Given the description of an element on the screen output the (x, y) to click on. 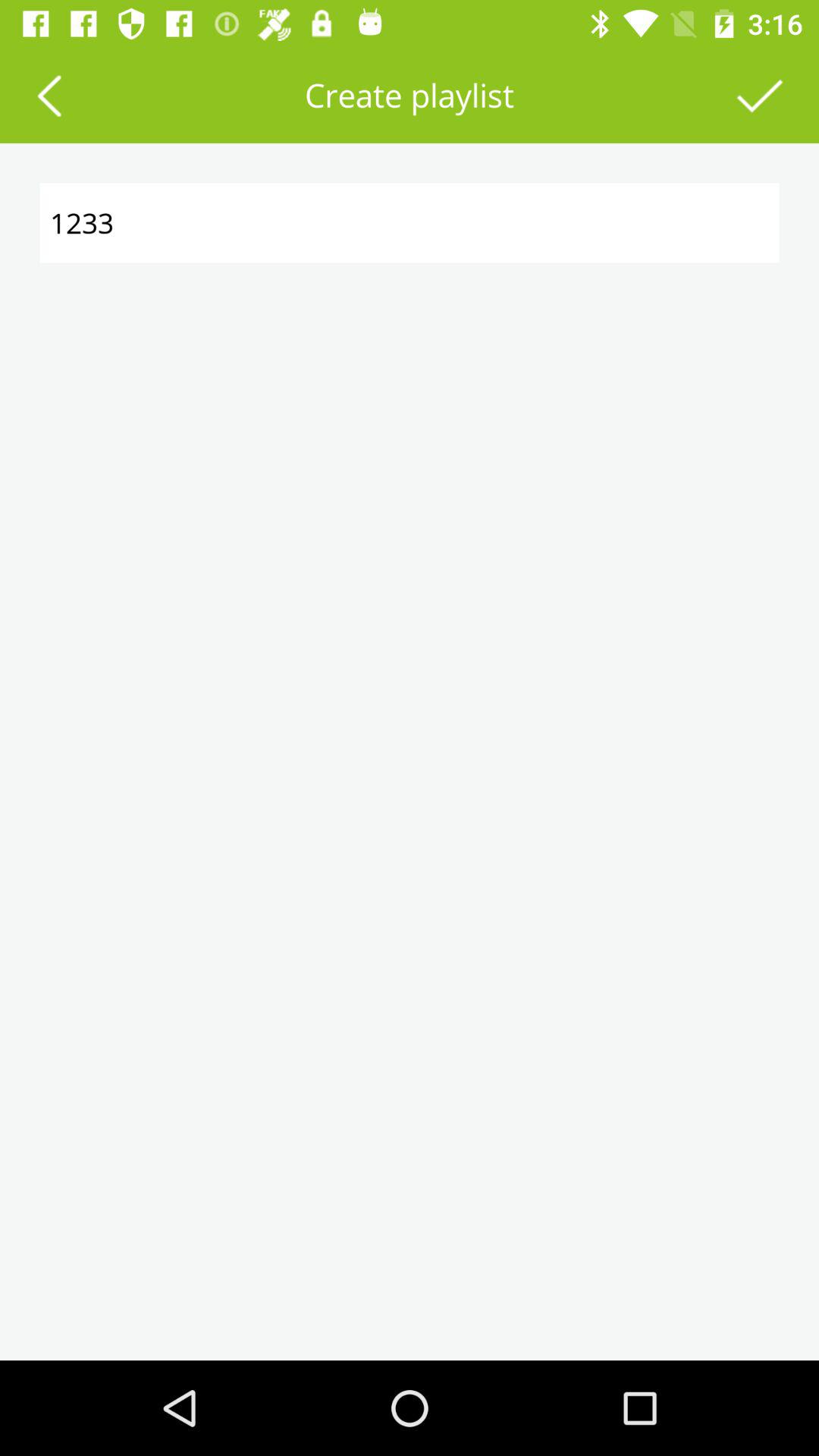
finalize creating the playlist (759, 95)
